Given the description of an element on the screen output the (x, y) to click on. 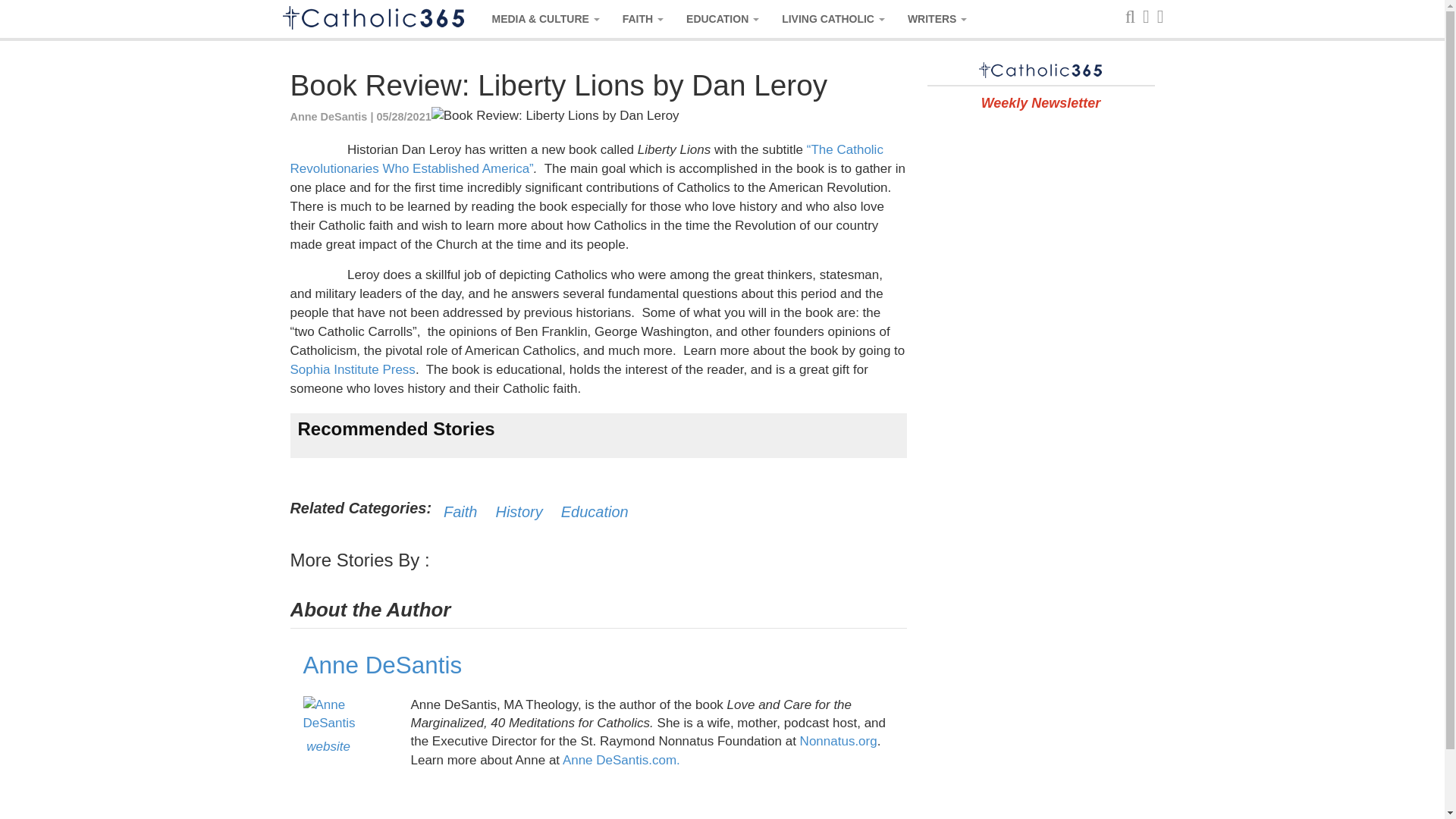
Education (594, 511)
LIVING CATHOLIC (833, 18)
EDUCATION (722, 18)
WRITERS (937, 18)
Faith (460, 511)
FAITH (643, 18)
Sophia Institute Press (351, 369)
History (518, 511)
